Given the description of an element on the screen output the (x, y) to click on. 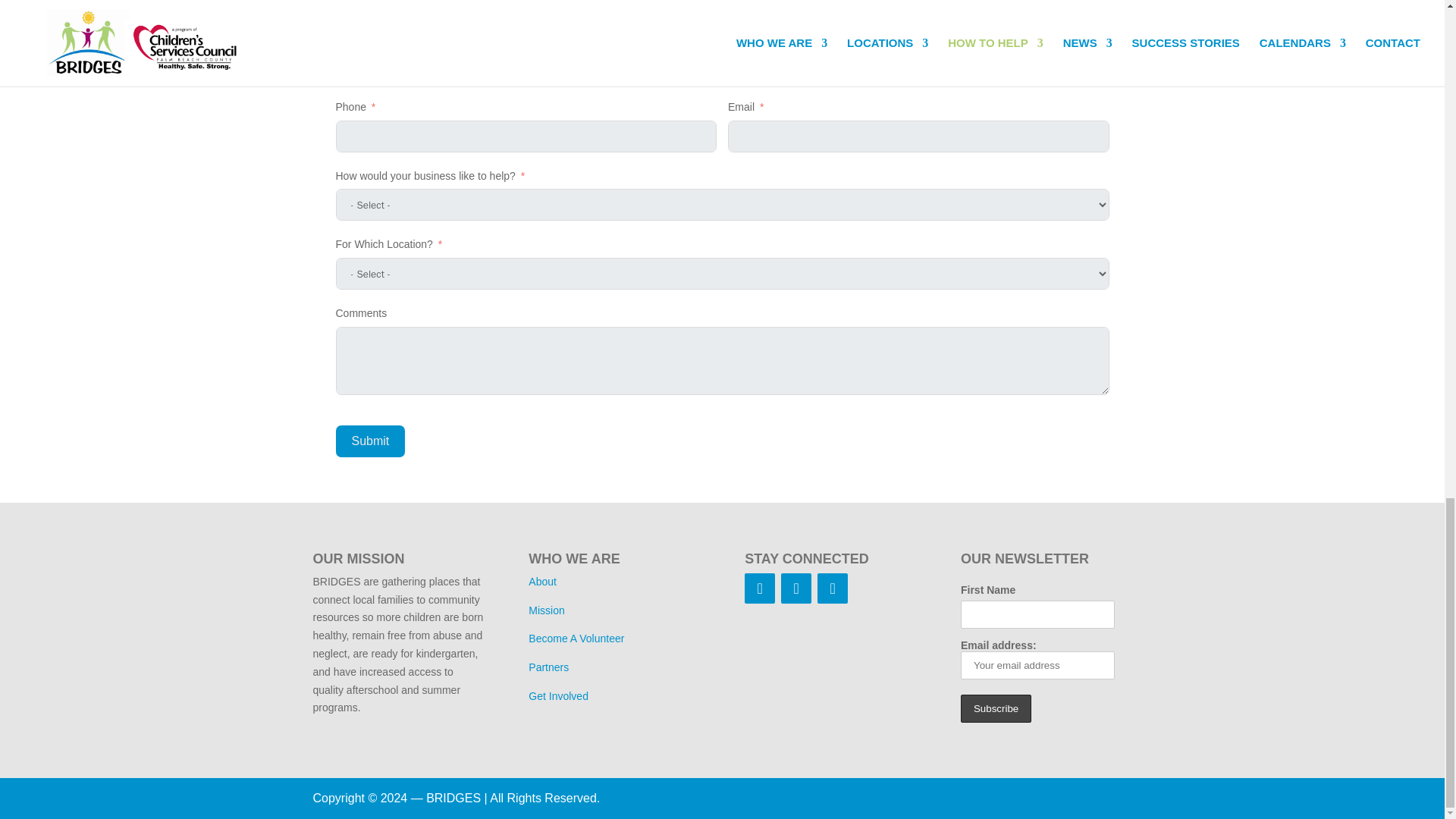
Facebook (759, 588)
YouTube (831, 588)
Subscribe (995, 708)
Twitter (795, 588)
